Given the description of an element on the screen output the (x, y) to click on. 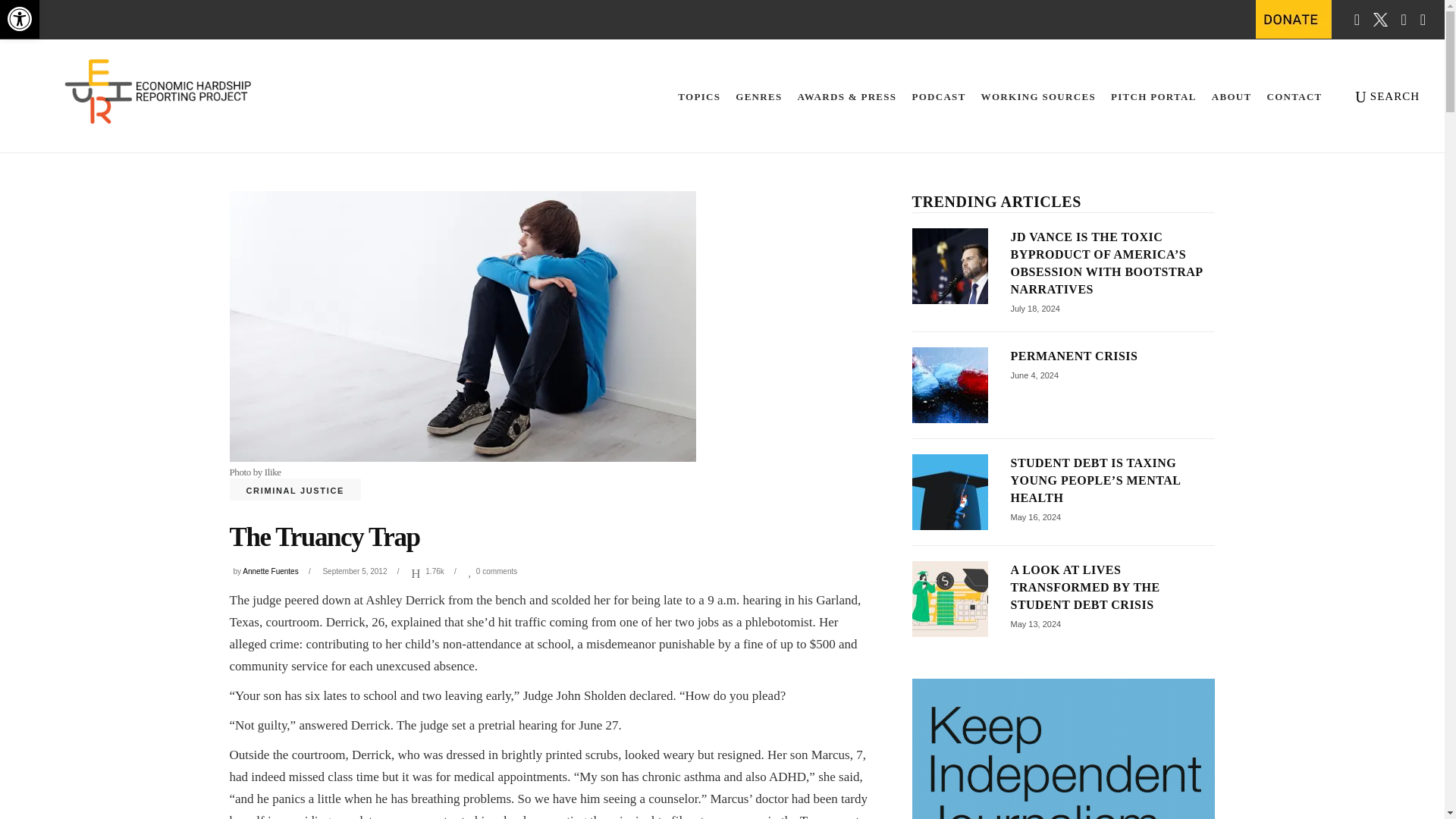
Accessibility Tools (19, 19)
Accessibility Tools (19, 19)
Permanent Crisis (19, 18)
